Given the description of an element on the screen output the (x, y) to click on. 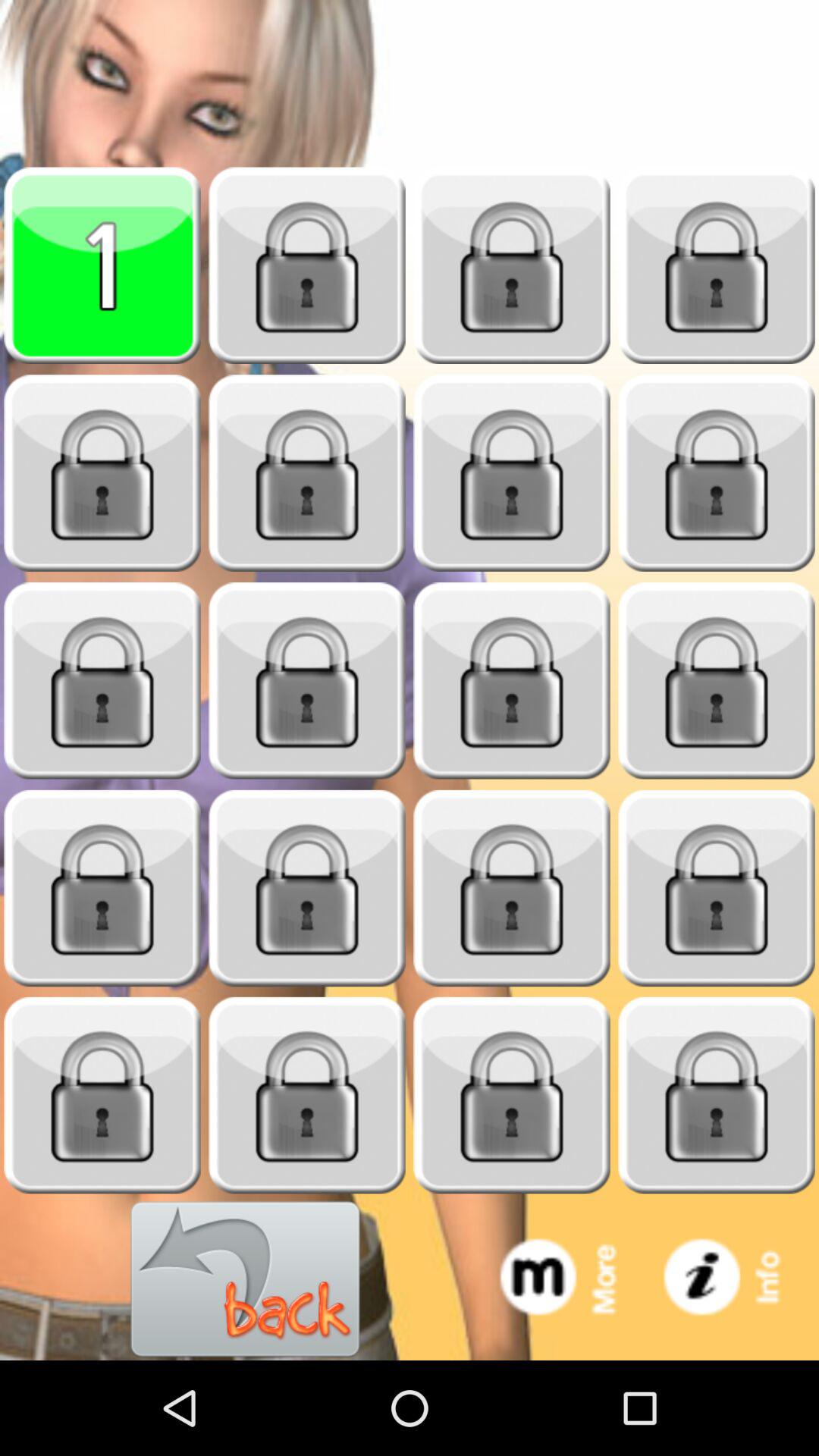
level 1 (102, 265)
